Given the description of an element on the screen output the (x, y) to click on. 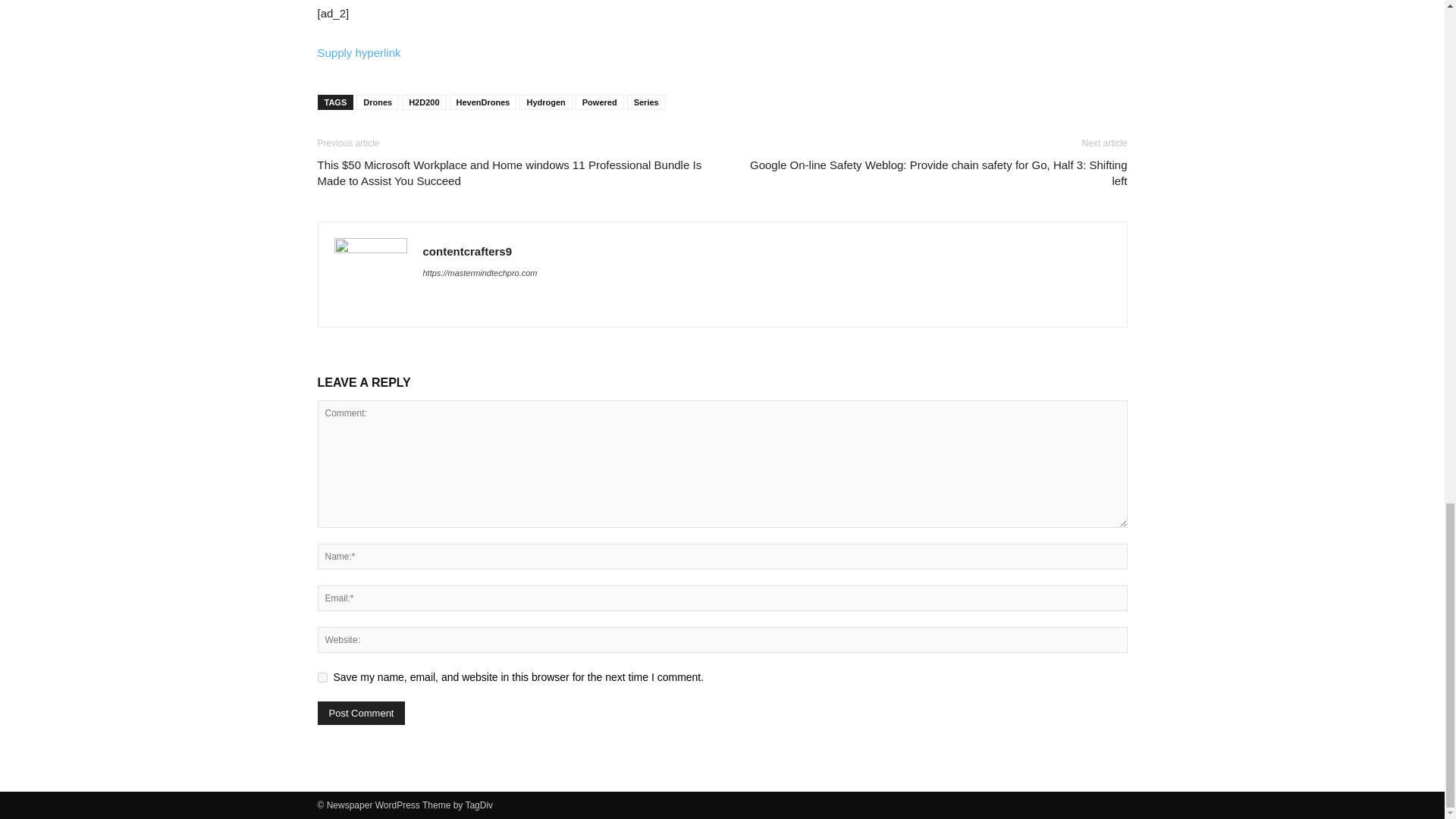
Supply hyperlink (358, 51)
Drones (377, 102)
Hydrogen (545, 102)
Powered (599, 102)
Post Comment (360, 712)
Post Comment (360, 712)
H2D200 (423, 102)
yes (321, 677)
HevenDrones (482, 102)
Series (646, 102)
